Given the description of an element on the screen output the (x, y) to click on. 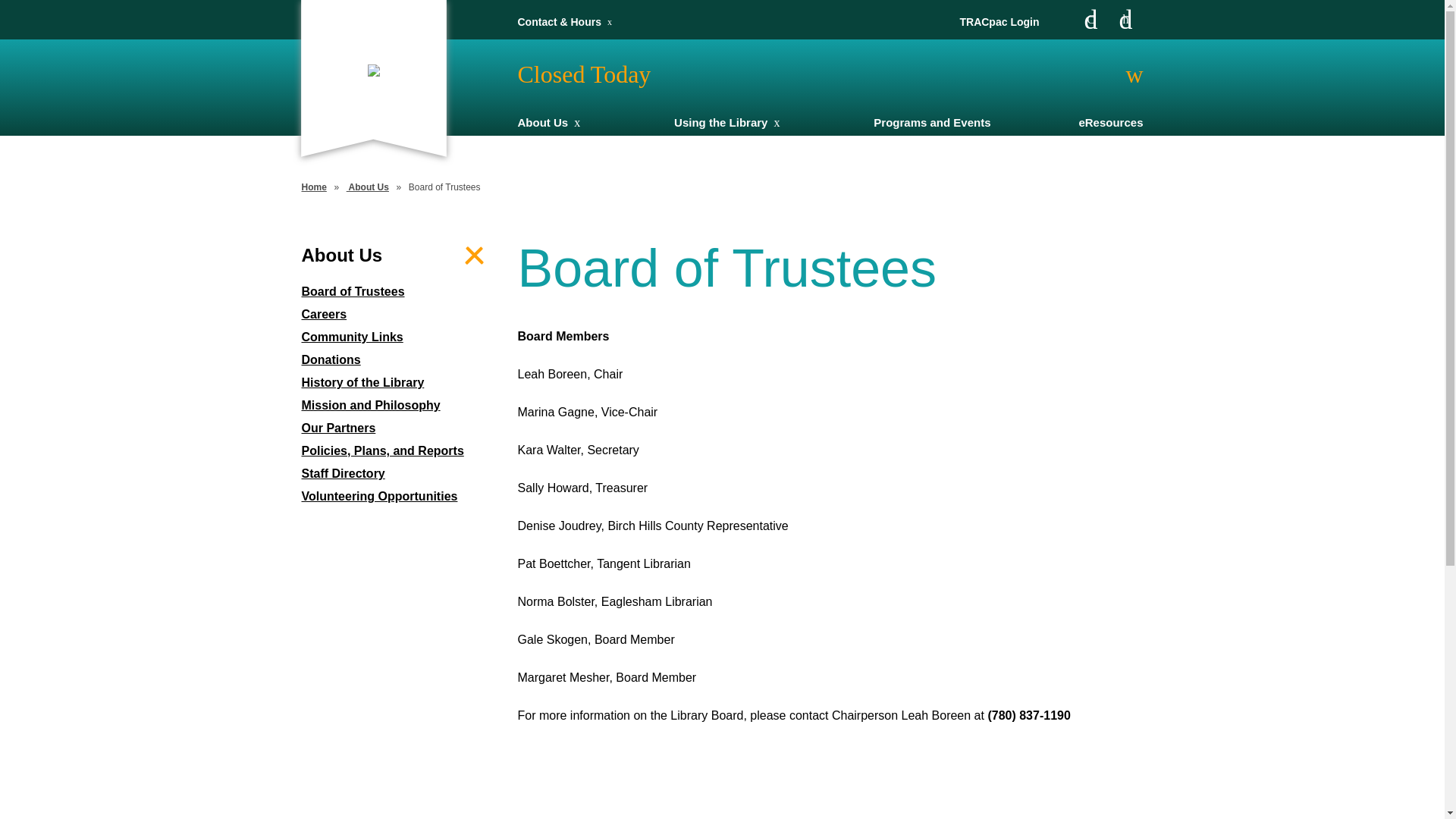
About Us Element type: text (542, 122)
Programs and Events Element type: text (931, 122)
Instagram Element type: hover (1125, 19)
TRACpac Login Element type: text (998, 21)
Our Partners Element type: text (398, 428)
Careers Element type: text (398, 314)
Facebook Element type: hover (1090, 19)
Board of Trustees Element type: text (398, 291)
Donations Element type: text (398, 359)
Staff Directory Element type: text (398, 473)
Contact & Hours Element type: text (558, 21)
About Us
Toggle navigation Element type: text (398, 255)
About Us Element type: text (367, 187)
Policies, Plans, and Reports Element type: text (398, 450)
Home Element type: text (313, 187)
Volunteering Opportunities Element type: text (398, 496)
Eaglesham Public Library Element type: hover (373, 69)
History of the Library Element type: text (398, 382)
eResources Element type: text (1110, 122)
Using the Library Element type: text (720, 122)
Mission and Philosophy Element type: text (398, 405)
Community Links Element type: text (398, 337)
